Given the description of an element on the screen output the (x, y) to click on. 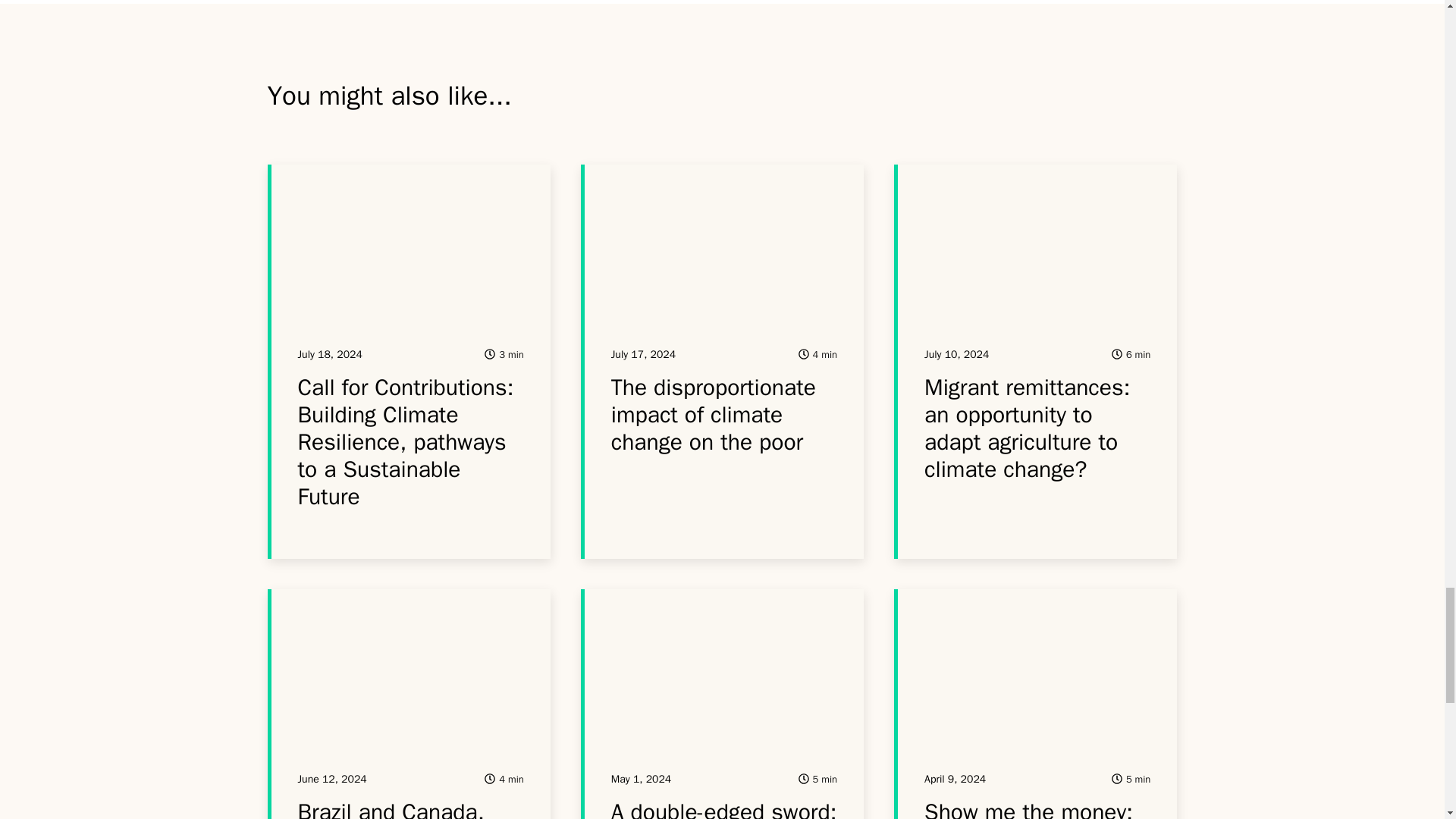
Show me the money: recent actions in biodiversity financing (1028, 808)
The disproportionate impact of climate change on the poor (713, 414)
